Given the description of an element on the screen output the (x, y) to click on. 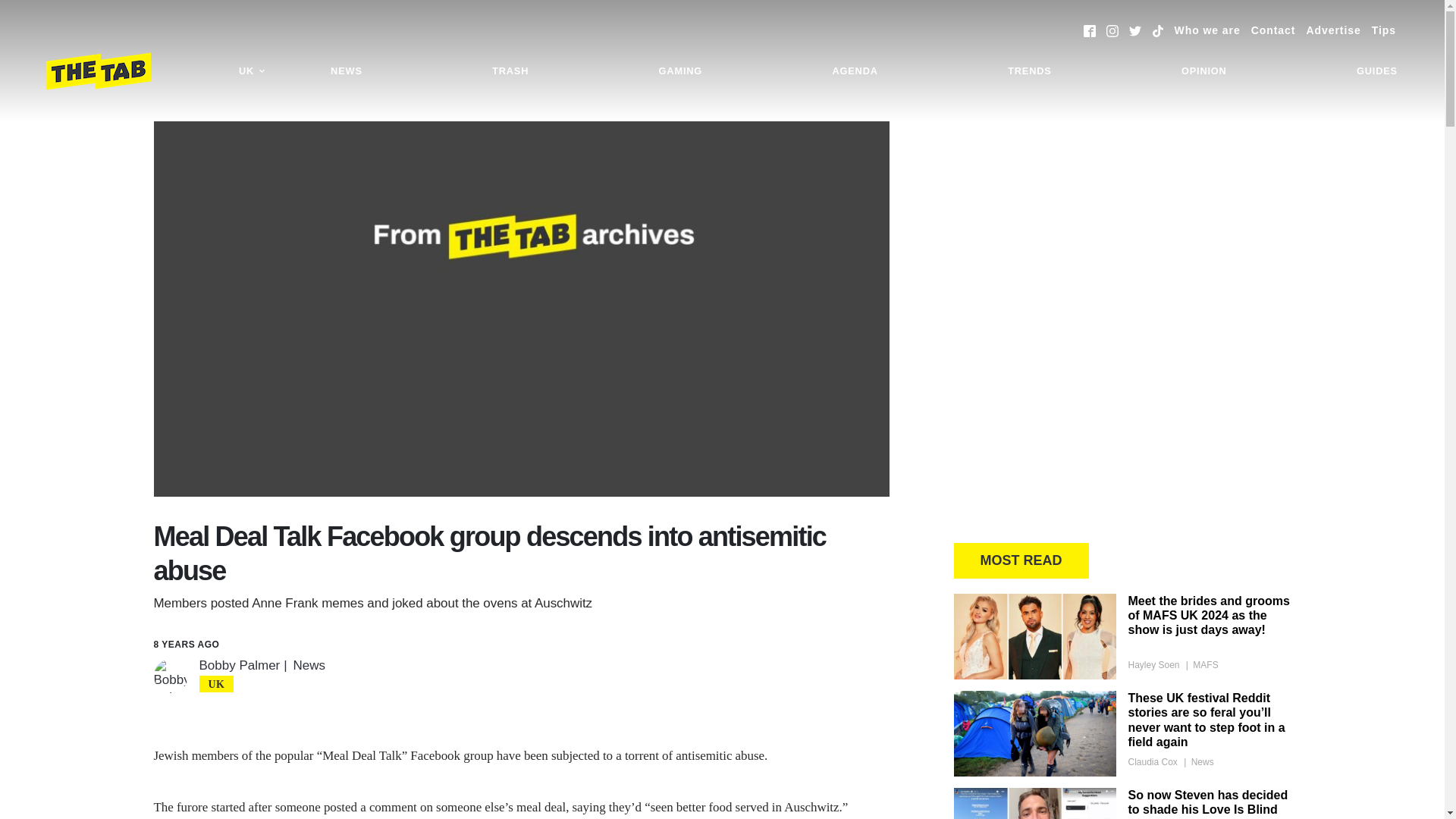
TRASH (510, 71)
AGENDA (854, 71)
TRENDS (1028, 71)
GUIDES (1377, 71)
Advertise (1332, 29)
NEWS (346, 71)
OPINION (1204, 71)
Contact (1272, 29)
Tips (1383, 29)
Who we are (1207, 29)
